Given the description of an element on the screen output the (x, y) to click on. 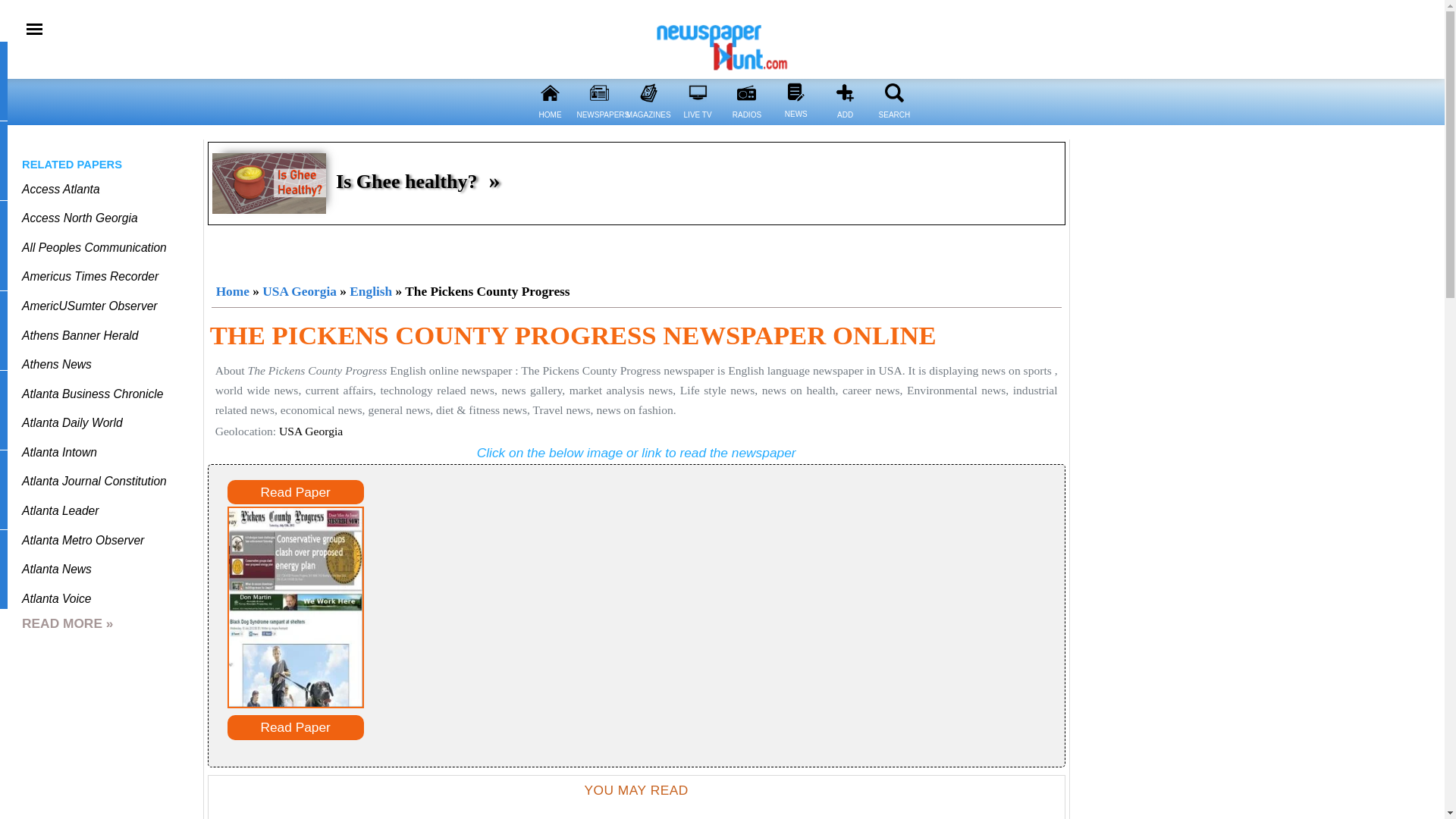
3rd party ad content (636, 249)
NEWSPAPERS (598, 124)
MAGAZINE (648, 92)
NEWSPAPER (598, 92)
HOME (549, 92)
ADD PAPER (844, 92)
English Newspapers in usa-georgia (370, 291)
Atlanta Intown (59, 451)
Atlanta Business Chronicle (92, 393)
Americus Times Recorder (89, 276)
